Given the description of an element on the screen output the (x, y) to click on. 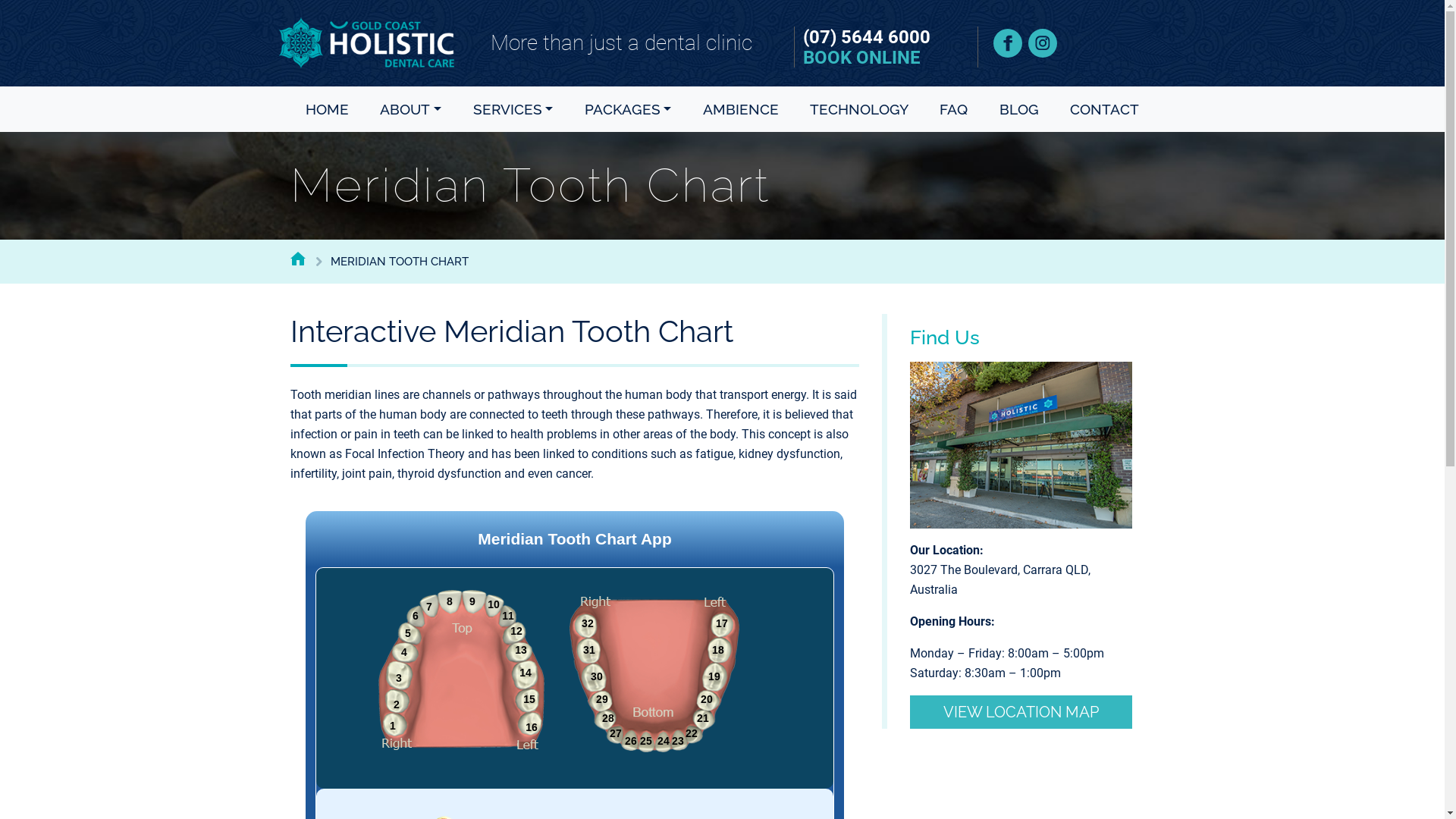
HOME Element type: text (326, 109)
TECHNOLOGY Element type: text (858, 109)
CONTACT Element type: text (1104, 109)
BOOK ONLINE Element type: text (861, 57)
AMBIENCE Element type: text (740, 109)
Gold Coast Holistic Dental Care Element type: text (366, 42)
SERVICES Element type: text (513, 109)
BLOG Element type: text (1018, 109)
(07) 5644 6000 Element type: text (866, 37)
PACKAGES Element type: text (627, 109)
VIEW LOCATION MAP Element type: text (1021, 711)
FAQ Element type: text (953, 109)
GOLD COAST HOLISTIC DENTAL CARE Element type: text (296, 258)
ABOUT Element type: text (410, 109)
